Given the description of an element on the screen output the (x, y) to click on. 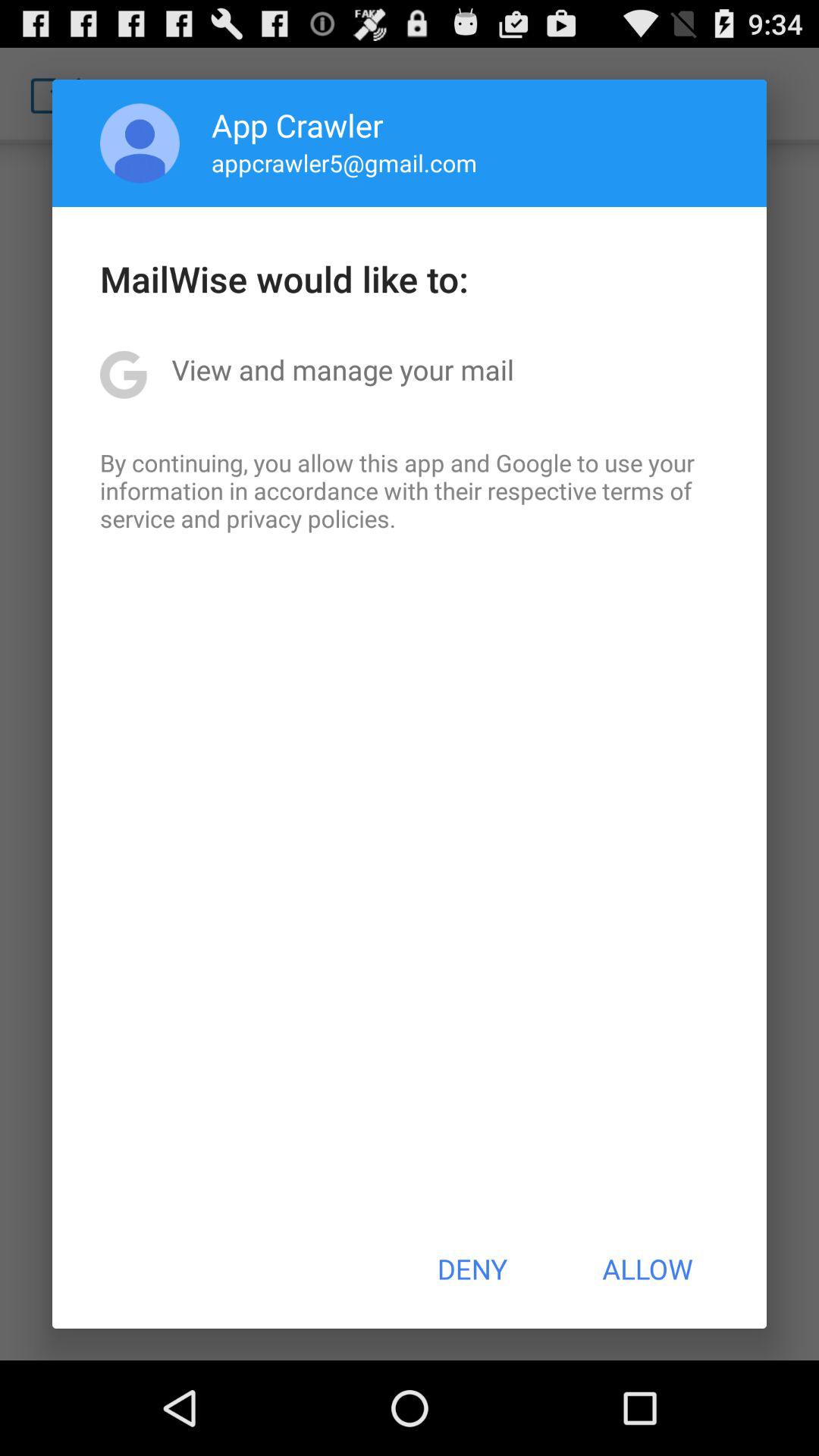
select app to the left of app crawler app (139, 143)
